Given the description of an element on the screen output the (x, y) to click on. 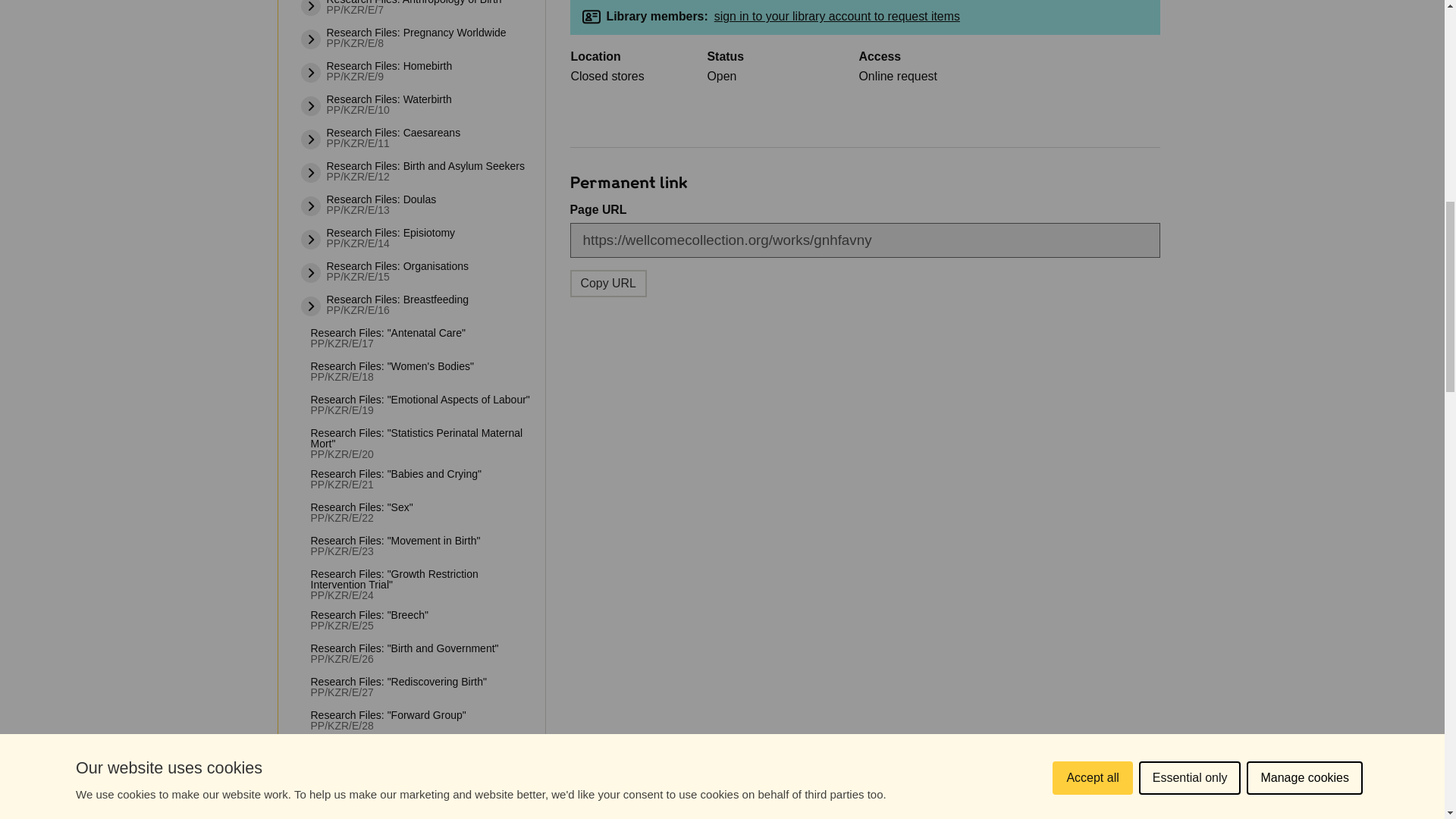
Accept all (1092, 37)
Manage cookies (1304, 17)
Essential only (1189, 24)
